Given the description of an element on the screen output the (x, y) to click on. 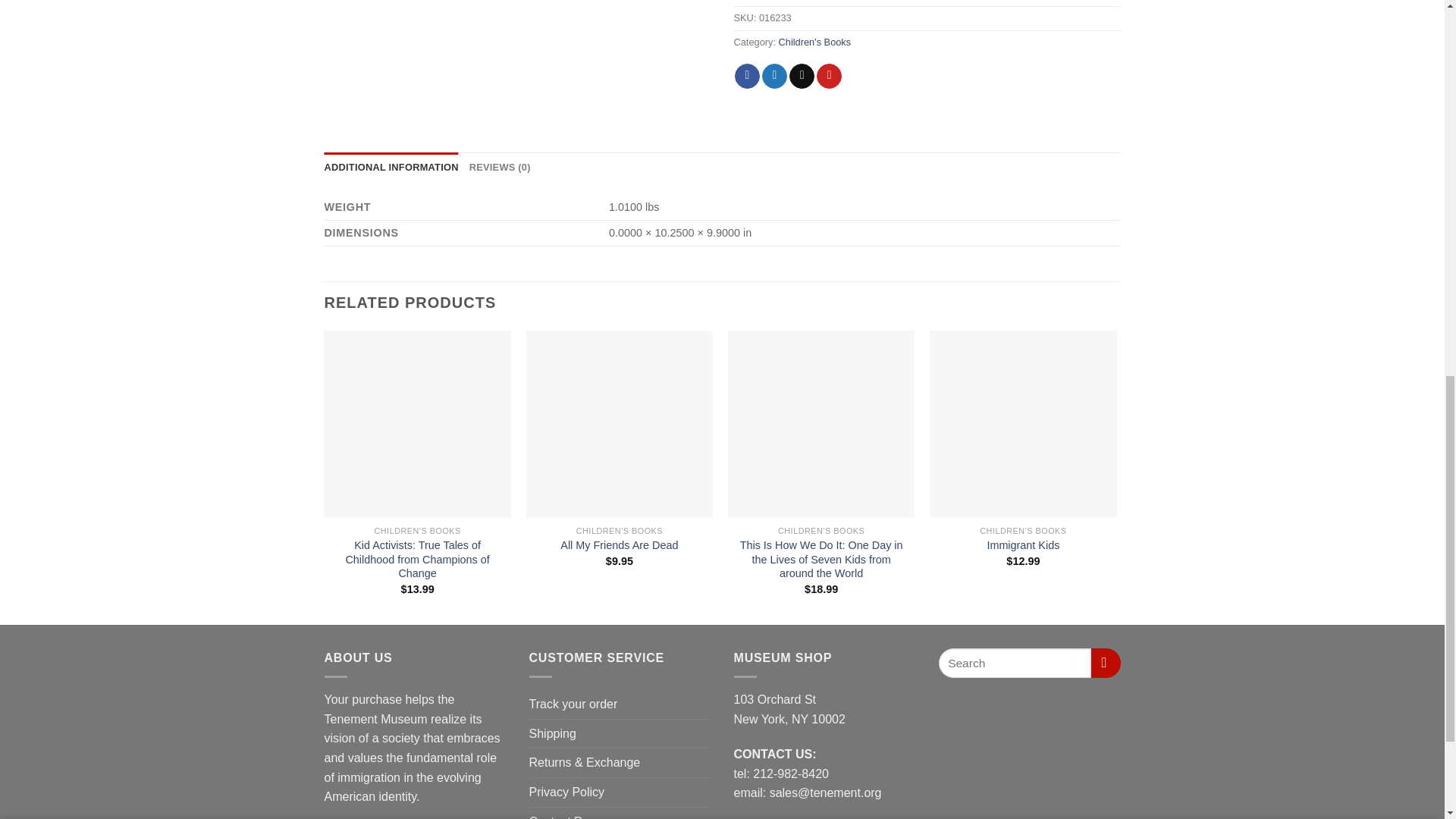
Share on Facebook (747, 76)
Pin on Pinterest (828, 76)
Share on Twitter (774, 76)
Email to a Friend (801, 76)
